Given the description of an element on the screen output the (x, y) to click on. 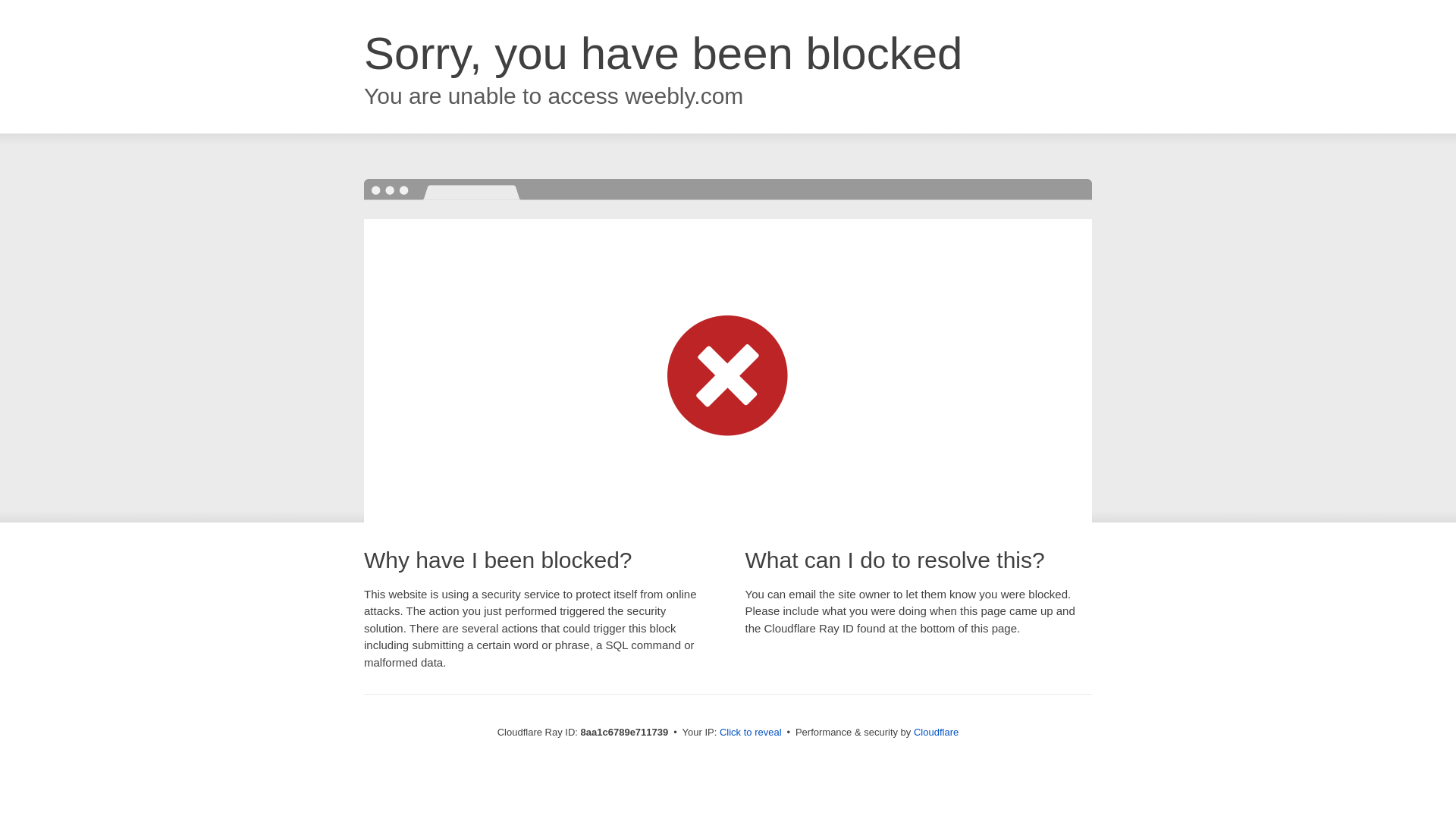
Click to reveal (750, 732)
Cloudflare (936, 731)
